Given the description of an element on the screen output the (x, y) to click on. 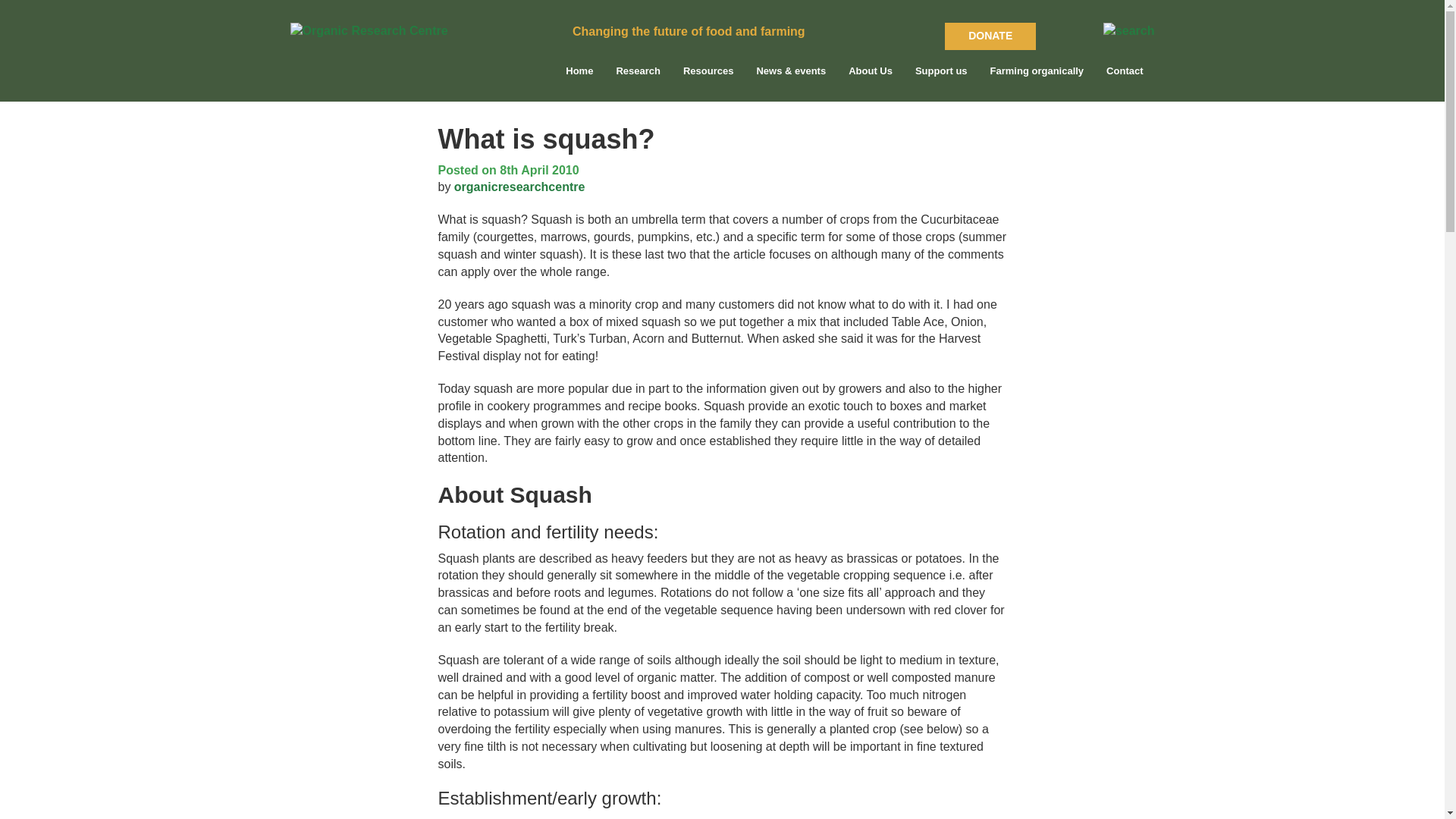
Farming organically (1037, 78)
Resources (707, 78)
Home (579, 78)
organicresearchcentre (519, 186)
Contact (1124, 78)
Support us (941, 78)
Research (637, 78)
DONATE (989, 35)
About Us (870, 78)
Posts by organicresearchcentre (519, 186)
